Given the description of an element on the screen output the (x, y) to click on. 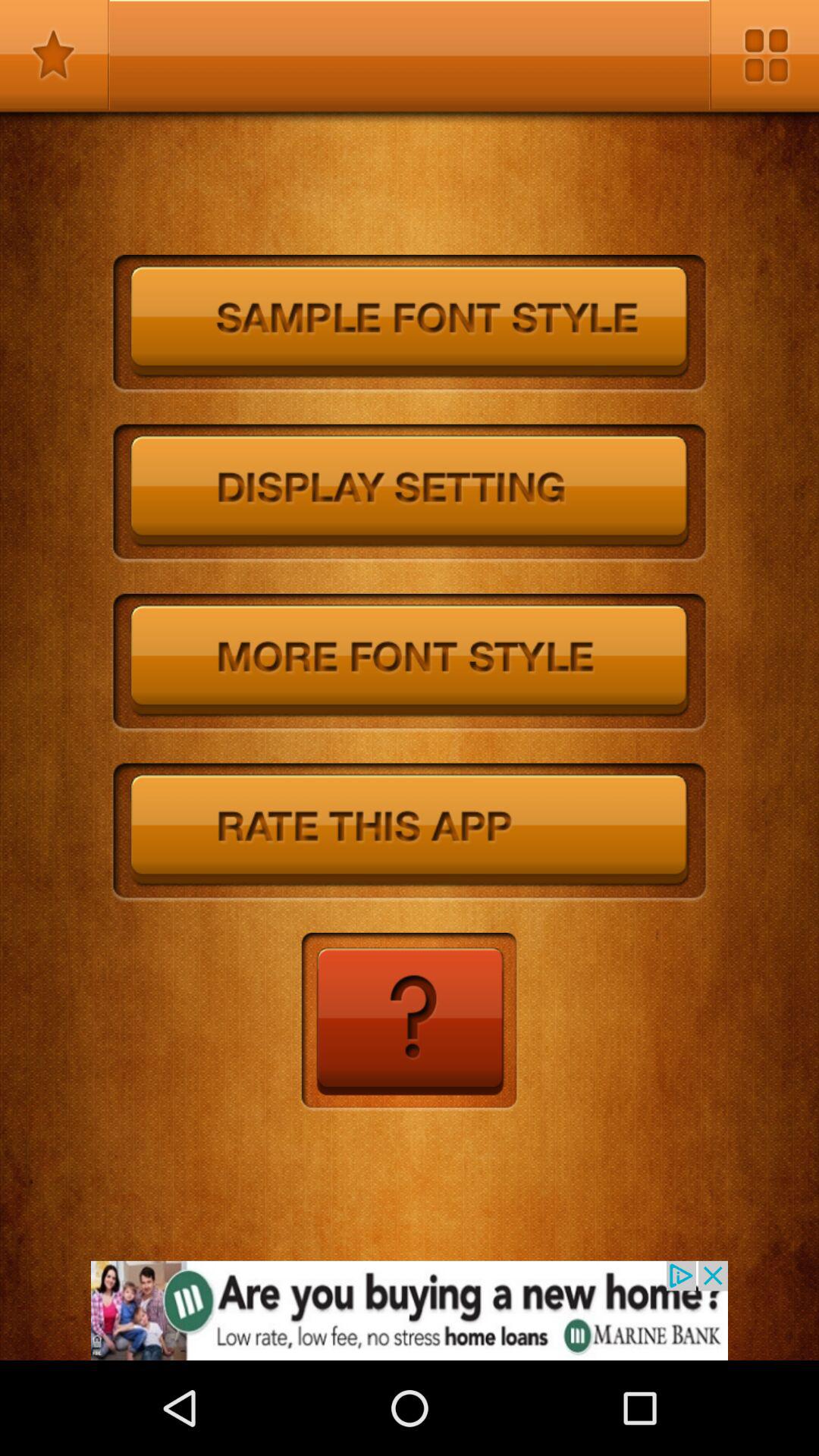
check sample font style (409, 324)
